Given the description of an element on the screen output the (x, y) to click on. 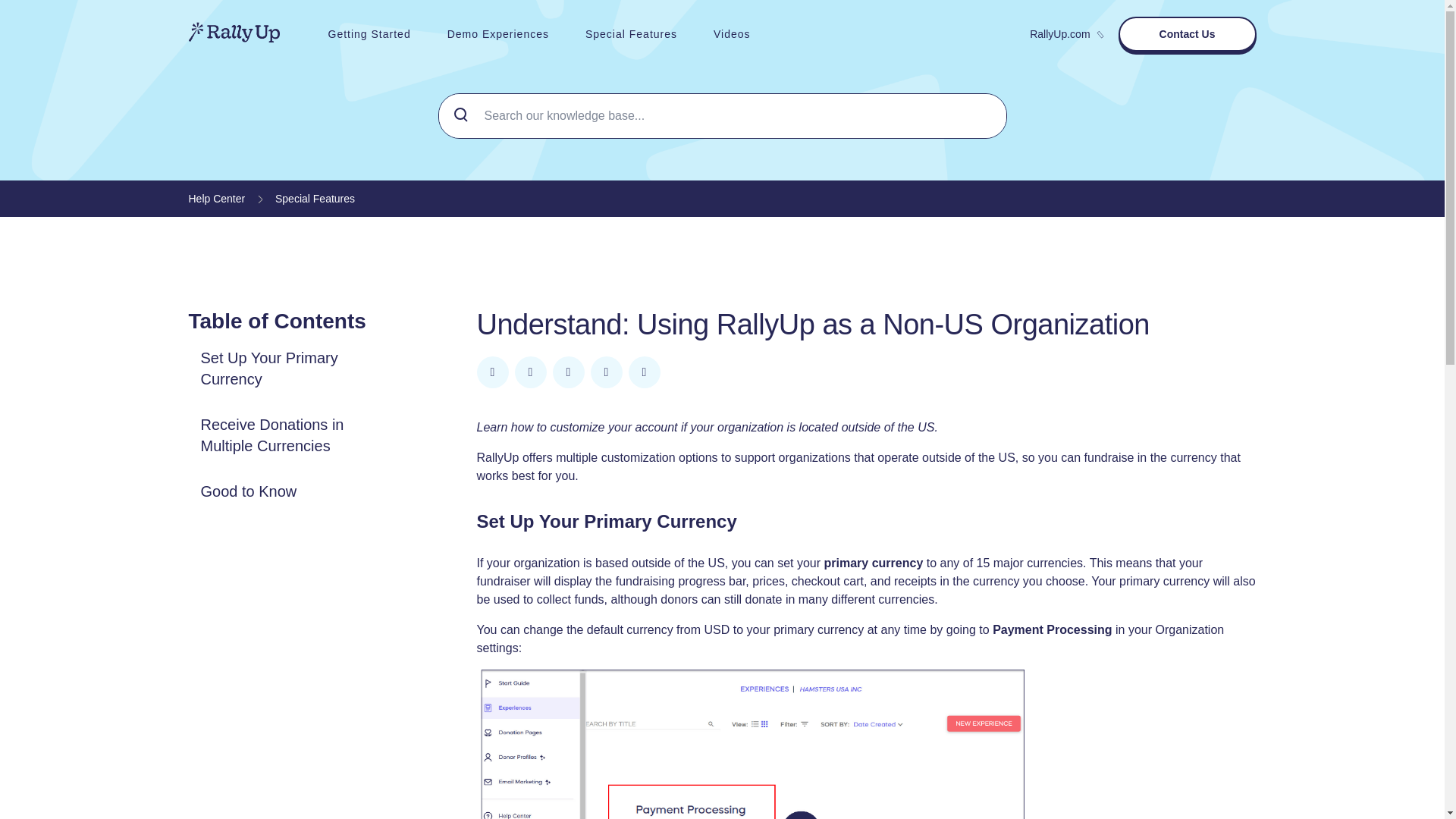
Set Up Your Primary Currency (293, 368)
RallyUp.com (1065, 33)
Demo Experiences (498, 33)
Special Features (631, 33)
Help Center (215, 198)
Good to Know (247, 491)
Videos (731, 33)
Special Features (315, 198)
Getting Started (368, 33)
Receive Donations in Multiple Currencies (293, 435)
